Given the description of an element on the screen output the (x, y) to click on. 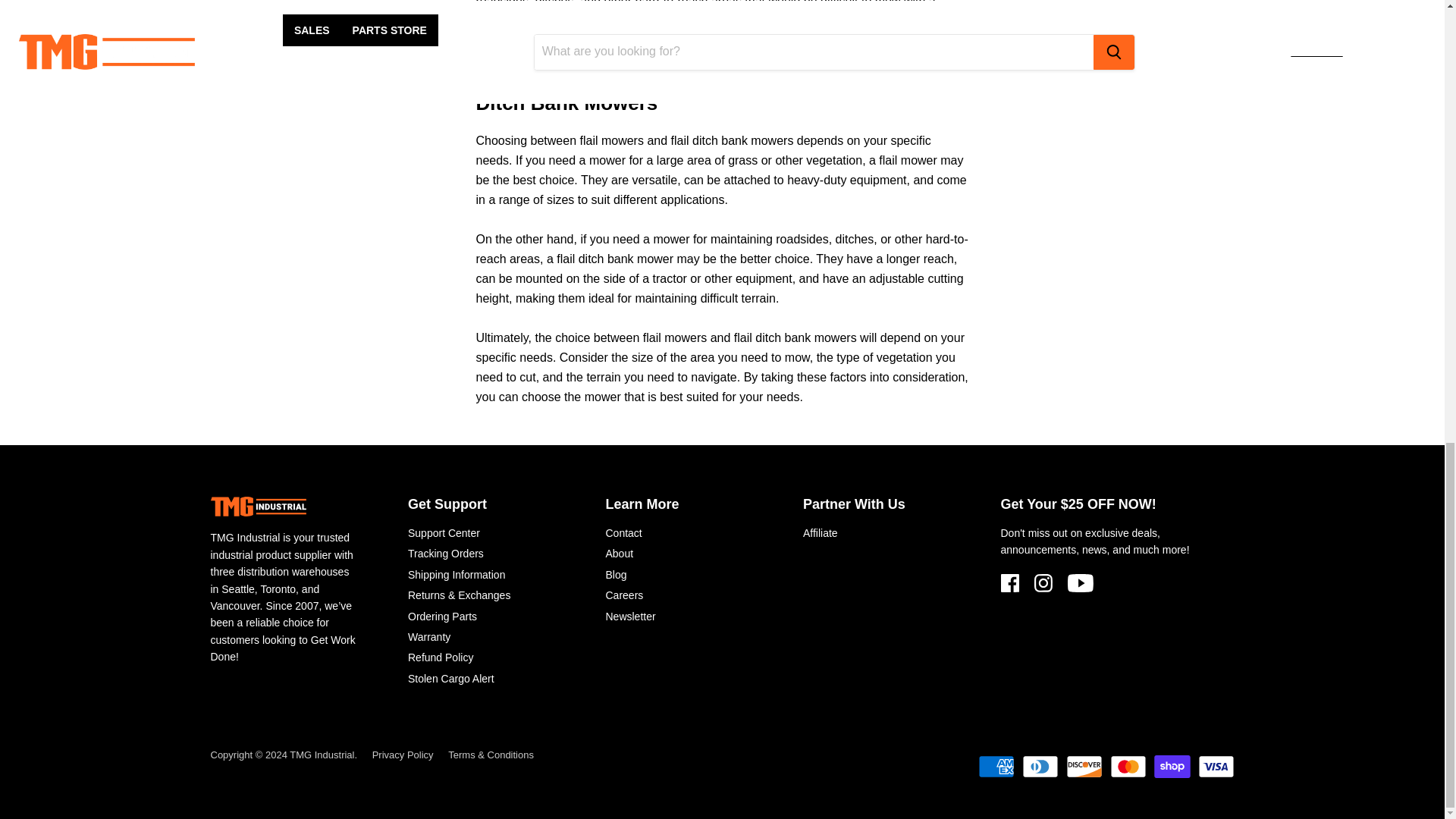
Mastercard (1128, 766)
Diners Club (1040, 766)
American Express (996, 766)
Shop Pay (1172, 766)
Visa (1216, 766)
Discover (1083, 766)
